Given the description of an element on the screen output the (x, y) to click on. 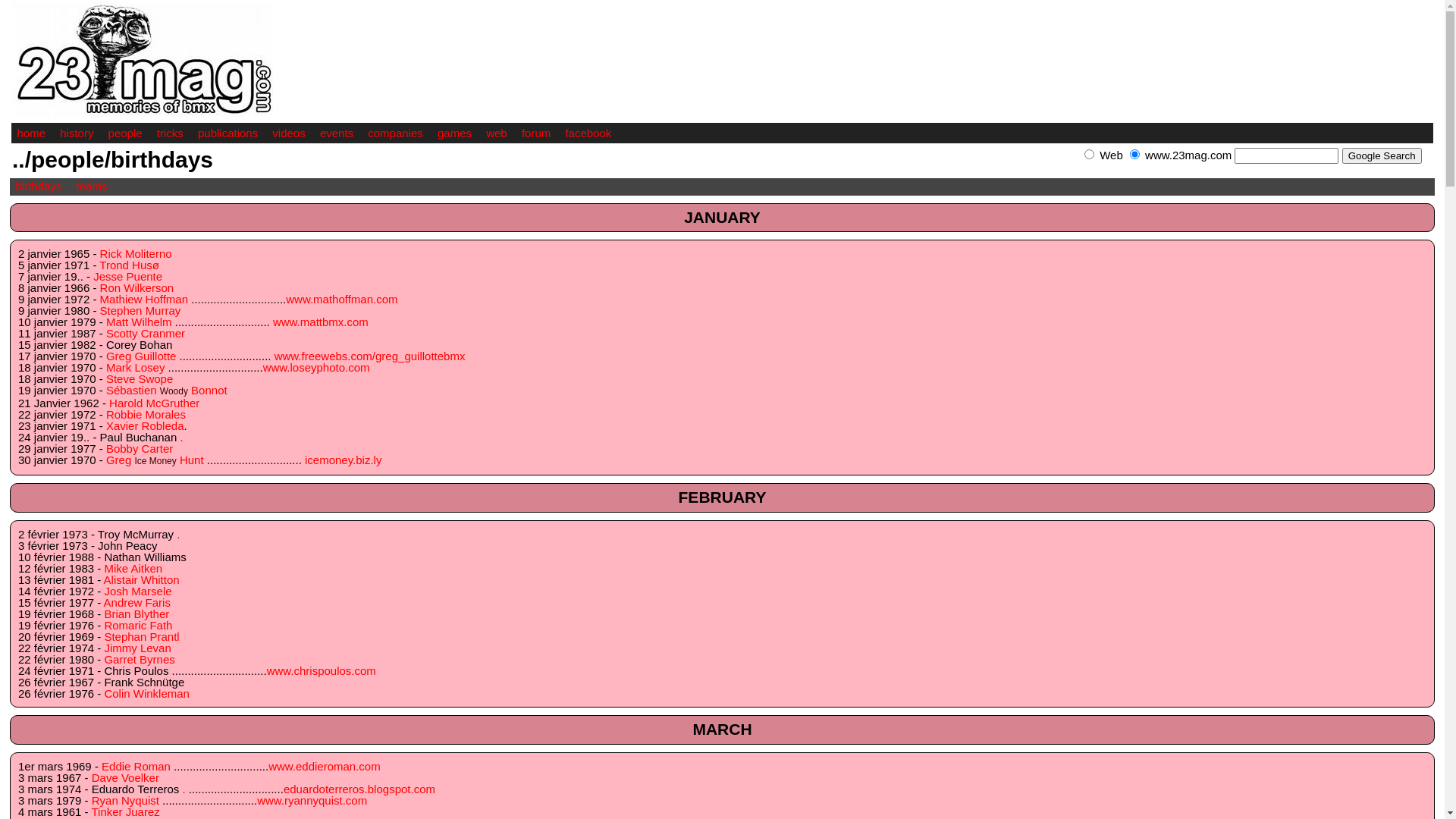
. Element type: text (183, 788)
web Element type: text (496, 132)
Dave Voelker Element type: text (125, 777)
www.ryannyquist.com Element type: text (312, 799)
Jesse Puente Element type: text (127, 275)
www.mattbmx.com Element type: text (320, 321)
Ron Wilkerson Element type: text (137, 287)
Colin Winkleman Element type: text (146, 693)
Eddie Roman Element type: text (135, 765)
videos Element type: text (288, 132)
eduardoterreros.blogspot.com Element type: text (359, 788)
Google Search Element type: text (1381, 155)
Josh Marsele Element type: text (137, 590)
Greg Ice Money Hunt Element type: text (154, 459)
Romaric Fath Element type: text (137, 624)
Stephen Murray Element type: text (140, 310)
birthdays Element type: text (38, 185)
Harold McGruther Element type: text (154, 402)
Garret Byrnes Element type: text (138, 658)
. Element type: text (177, 533)
home Element type: text (30, 132)
Alistair Whitton Element type: text (141, 579)
Ryan Nyquist Element type: text (125, 799)
www.eddieroman.com Element type: text (324, 765)
Steve Swope Element type: text (139, 378)
www.loseyphoto.com Element type: text (316, 366)
Greg Guillotte Element type: text (141, 355)
games Element type: text (454, 132)
www.chrispoulos.com Element type: text (321, 670)
Bobby Carter Element type: text (139, 448)
Scotty Cranmer Element type: text (145, 332)
Matt Wilhelm Element type: text (139, 321)
Rick Moliterno Element type: text (136, 253)
Mike Aitken Element type: text (132, 567)
Robbie Morales Element type: text (145, 413)
facebook Element type: text (587, 132)
tricks Element type: text (169, 132)
Mark Losey Element type: text (135, 366)
companies Element type: text (395, 132)
publications Element type: text (227, 132)
Stephan Prantl Element type: text (140, 636)
Xavier Robleda Element type: text (145, 425)
. Element type: text (180, 436)
people Element type: text (125, 132)
Jimmy Levan Element type: text (136, 647)
Mathiew Hoffman Element type: text (144, 298)
teams Element type: text (91, 185)
history Element type: text (76, 132)
icemoney.biz.ly Element type: text (342, 459)
events Element type: text (336, 132)
Tinker Juarez Element type: text (125, 811)
Brian Blyther Element type: text (136, 613)
Andrew Faris Element type: text (136, 602)
forum Element type: text (535, 132)
www.freewebs.com/greg_guillottebmx Element type: text (369, 355)
www.mathoffman.com Element type: text (341, 298)
Advertisement Element type: hover (1255, 171)
